Given the description of an element on the screen output the (x, y) to click on. 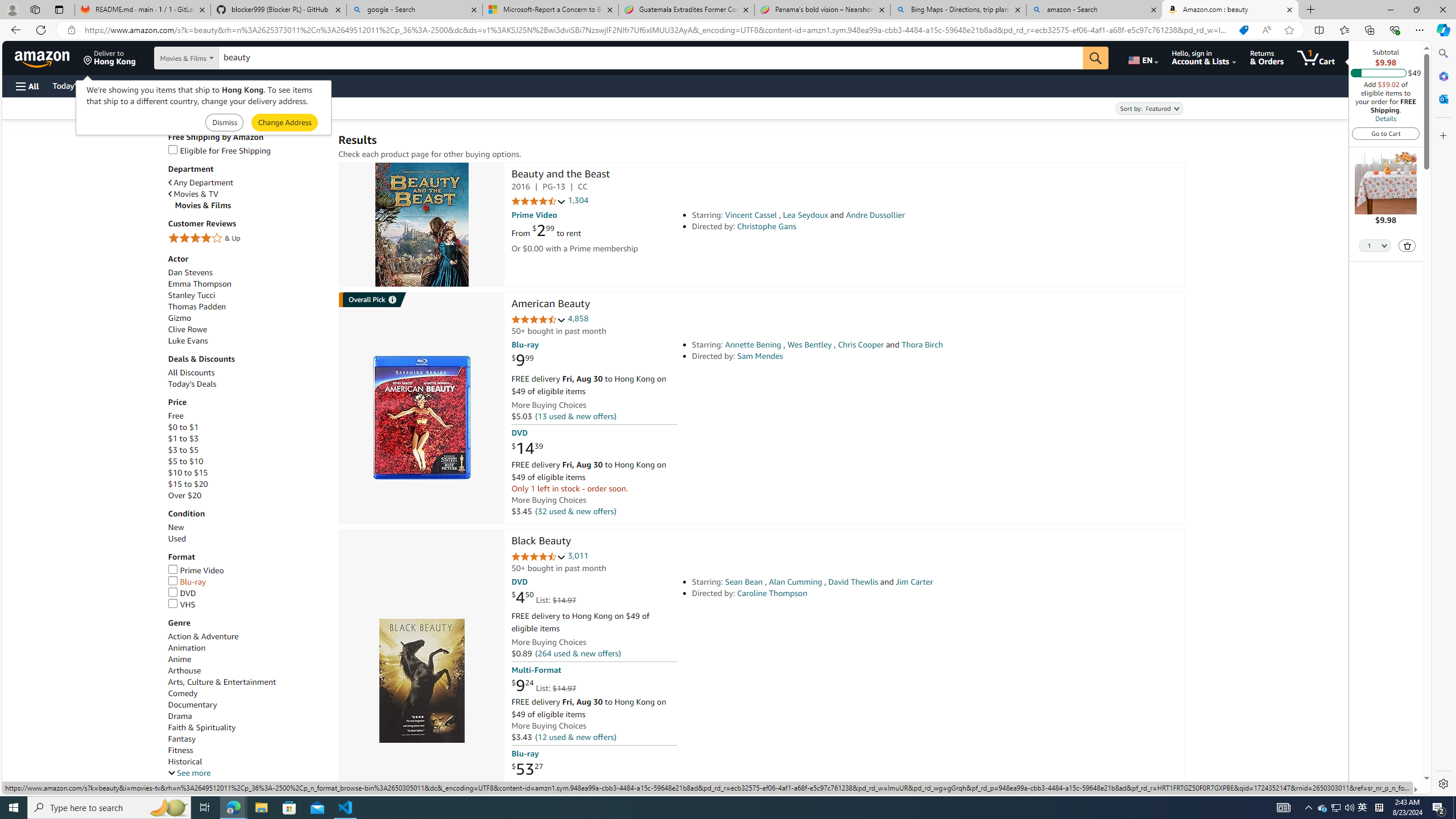
New (175, 527)
Black Beauty (541, 541)
4 Stars & Up& Up (247, 238)
Any Department (200, 182)
Arts, Culture & Entertainment (221, 681)
1 item in cart (1315, 57)
American Beauty (421, 417)
Emma Thompson (199, 283)
Details (1385, 118)
$4.50 List: $14.97 (543, 597)
